Given the description of an element on the screen output the (x, y) to click on. 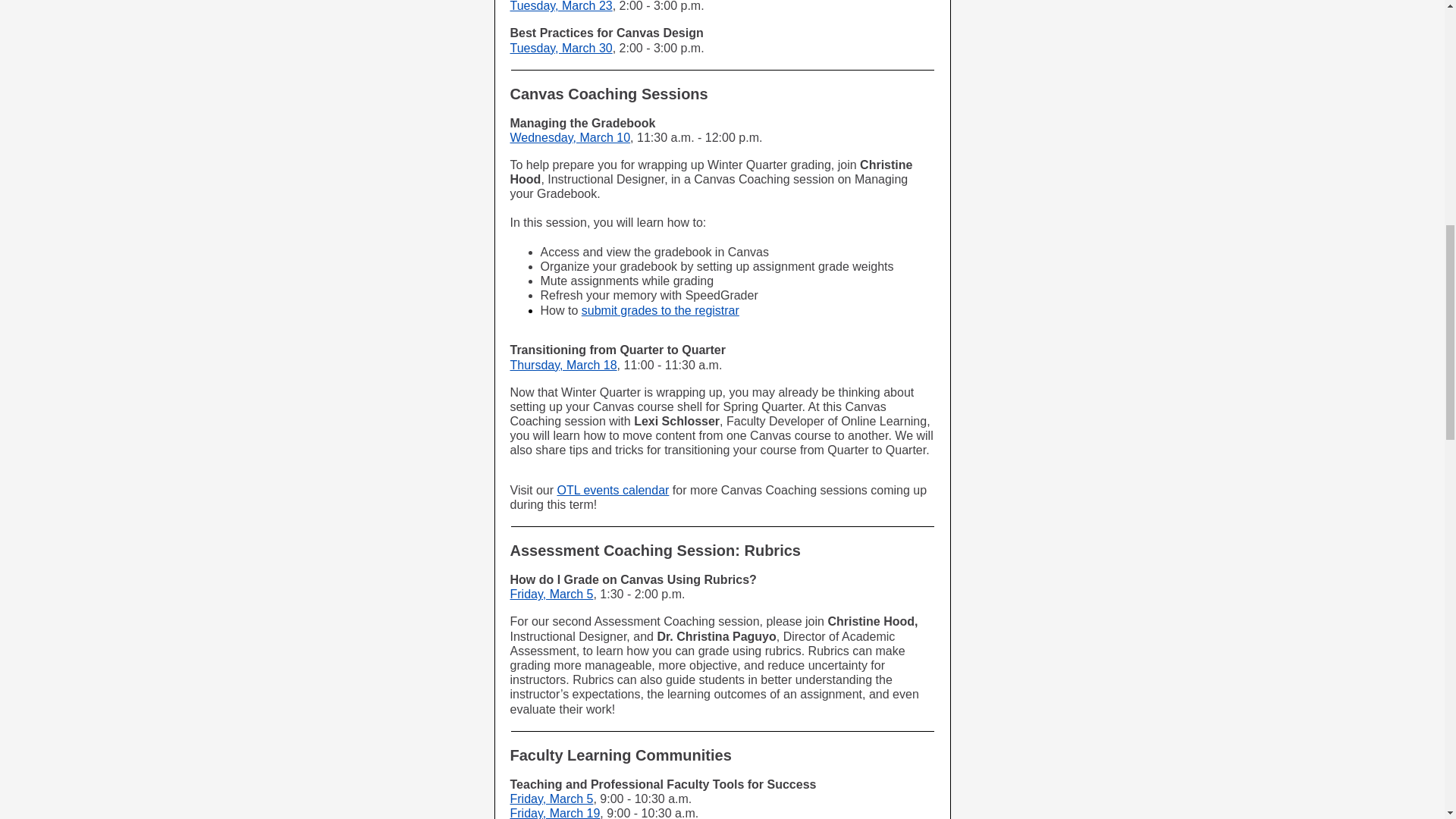
Friday, March 19 (554, 812)
Friday, March 5 (550, 798)
Friday, March 5 (550, 594)
submit grades to the registrar (659, 309)
Tuesday, March 30 (560, 47)
OTL events calendar (612, 490)
Wednesday, March 10 (569, 137)
Tuesday, March 23 (560, 6)
Thursday, March 18 (562, 364)
